Given the description of an element on the screen output the (x, y) to click on. 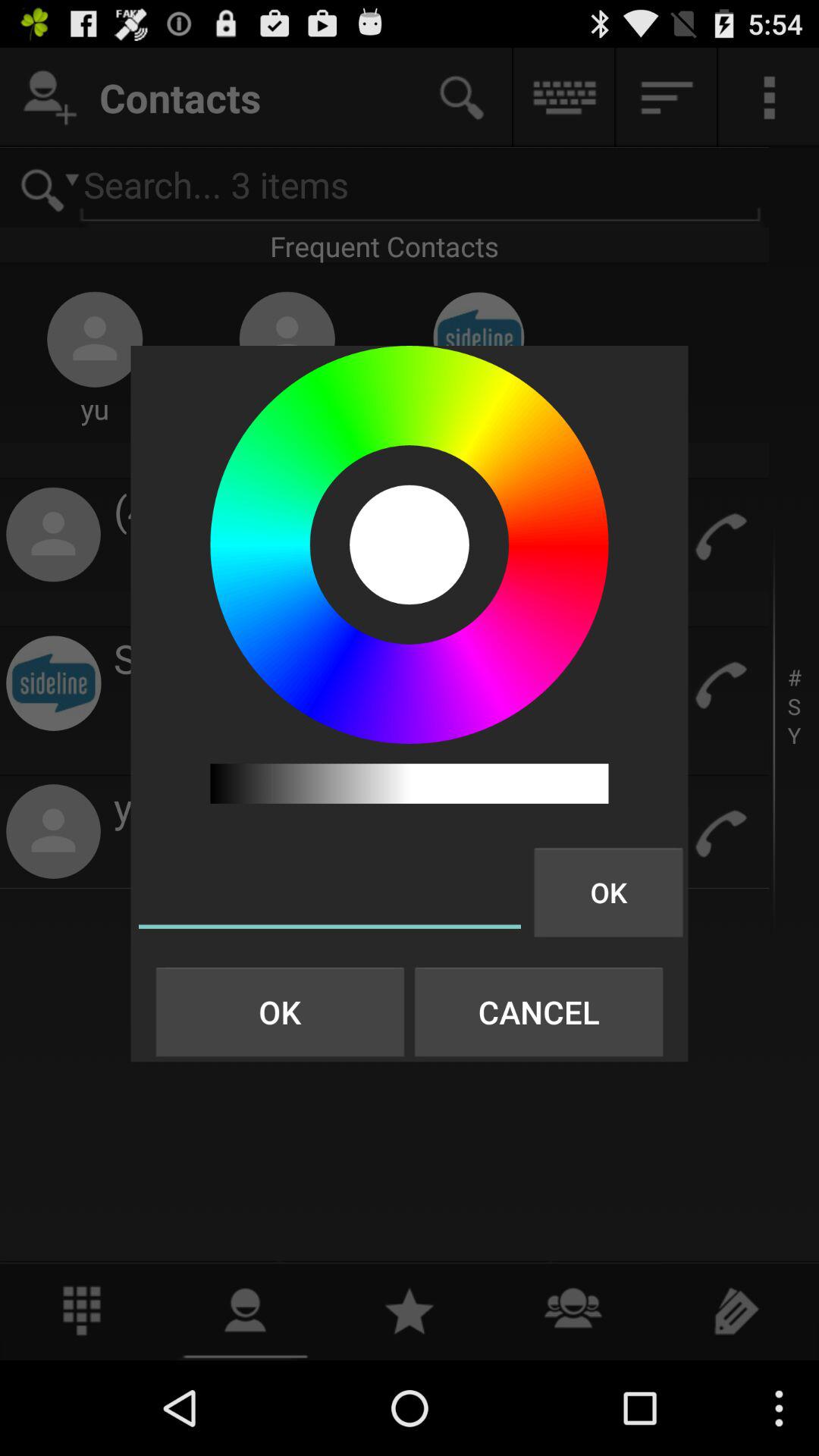
click the item next to the ok button (538, 1011)
